Given the description of an element on the screen output the (x, y) to click on. 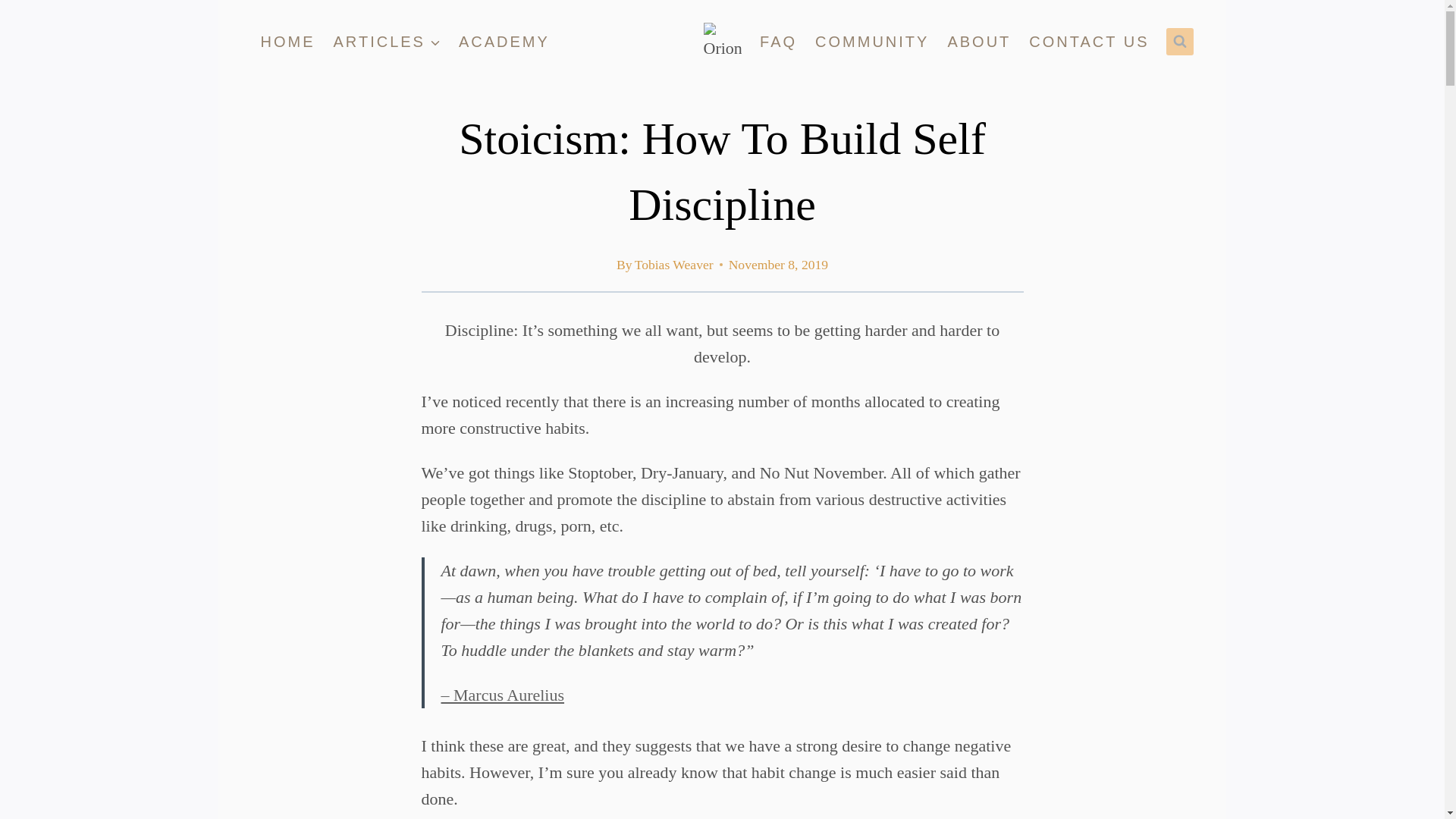
FAQ (778, 41)
ABOUT (978, 41)
ARTICLES (386, 41)
ACADEMY (504, 41)
COMMUNITY (871, 41)
CONTACT US (1088, 41)
Tobias Weaver (673, 264)
HOME (287, 41)
